Given the description of an element on the screen output the (x, y) to click on. 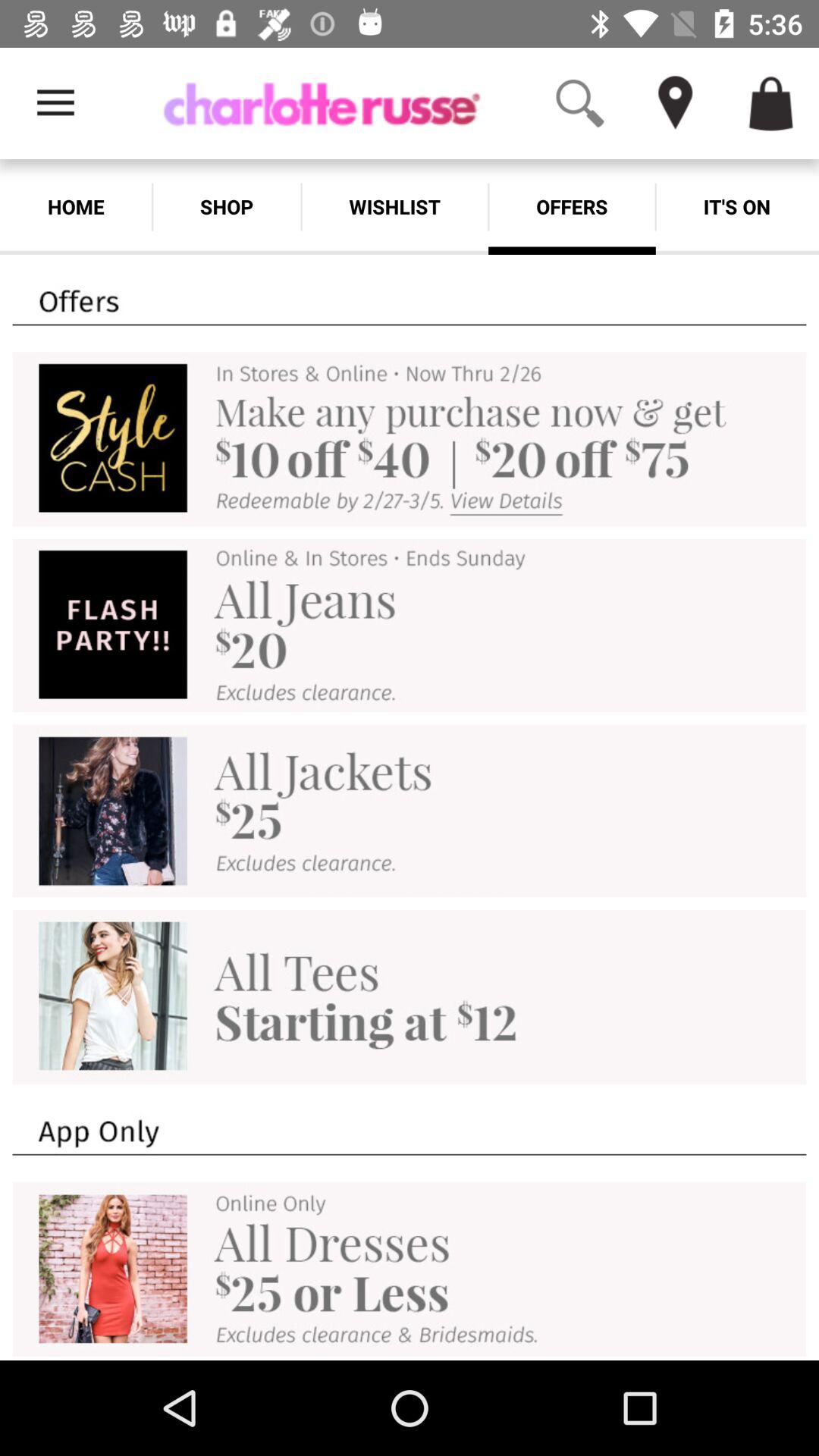
turn on the app above offers (579, 103)
